Given the description of an element on the screen output the (x, y) to click on. 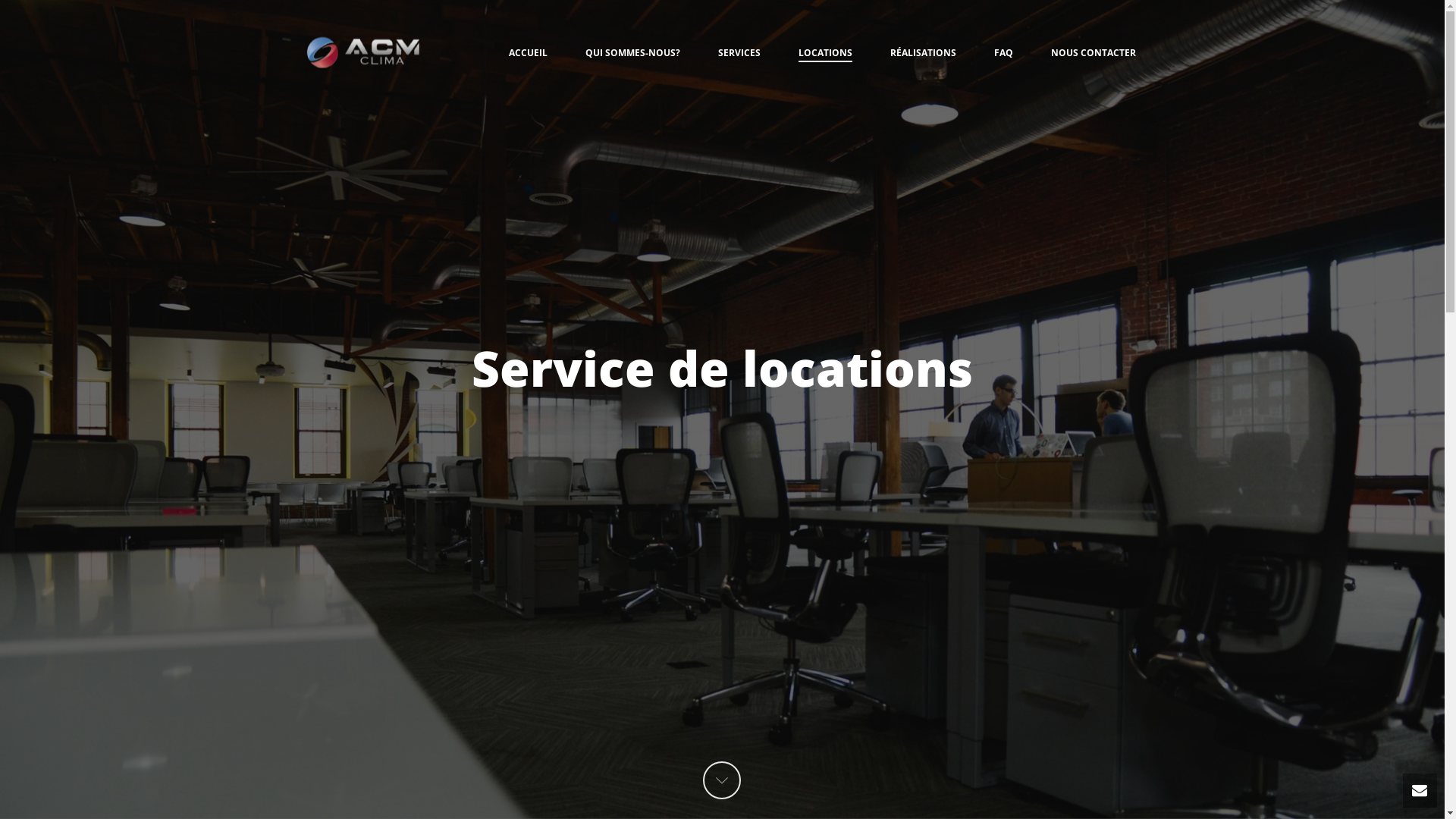
SERVICES Element type: text (739, 53)
FAQ Element type: text (1003, 53)
NOUS CONTACTER Element type: text (1092, 53)
QUI SOMMES-NOUS? Element type: text (631, 53)
Solution de climatisation pour entreprise Element type: hover (361, 53)
ACCUEIL Element type: text (527, 53)
LOCATIONS Element type: text (825, 53)
